Given the description of an element on the screen output the (x, y) to click on. 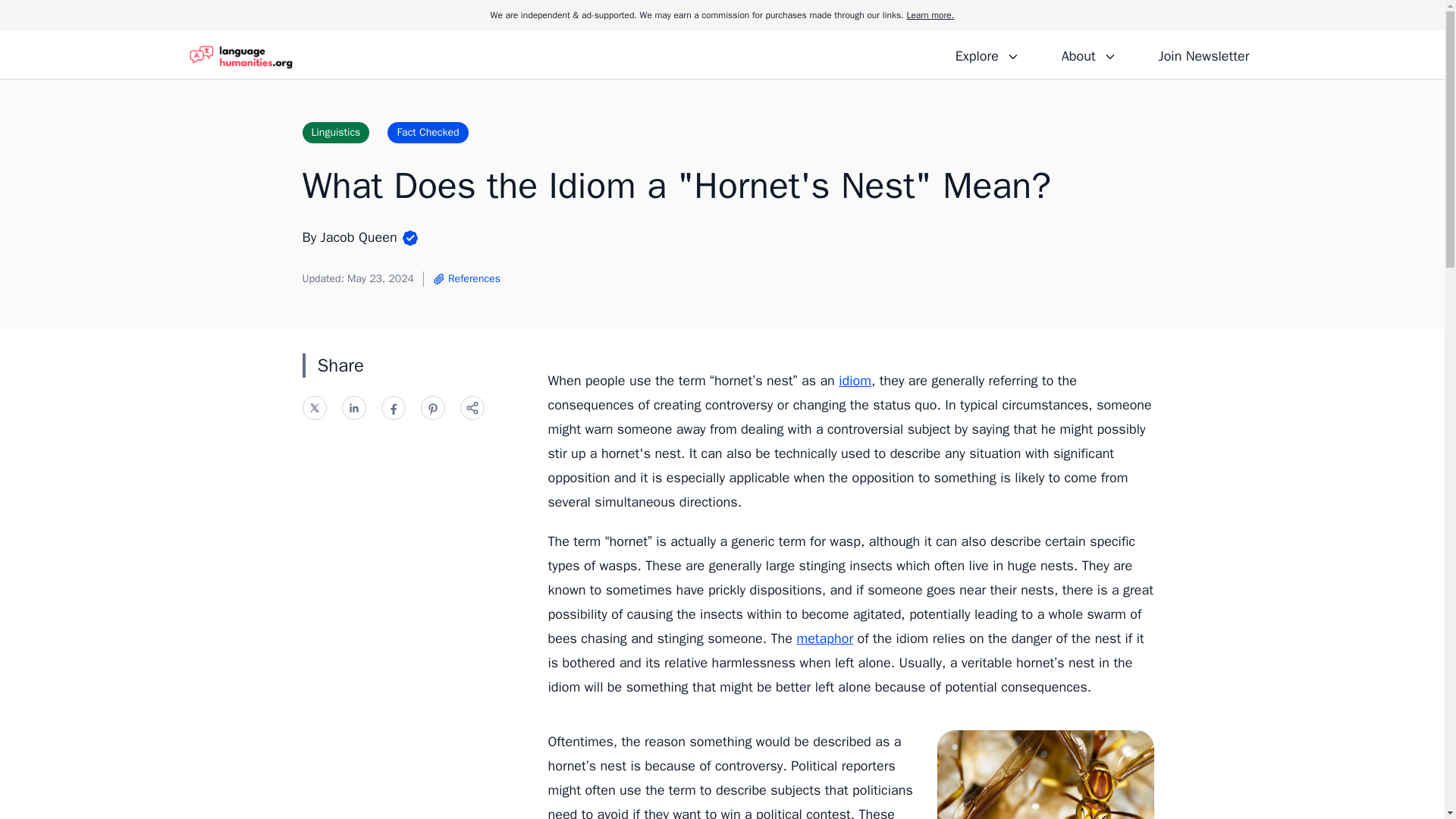
Linguistics (335, 132)
Join Newsletter (1202, 54)
About (1088, 54)
References (466, 278)
idiom (854, 380)
Learn more. (929, 15)
metaphor (824, 638)
Explore (986, 54)
Fact Checked (427, 132)
